Given the description of an element on the screen output the (x, y) to click on. 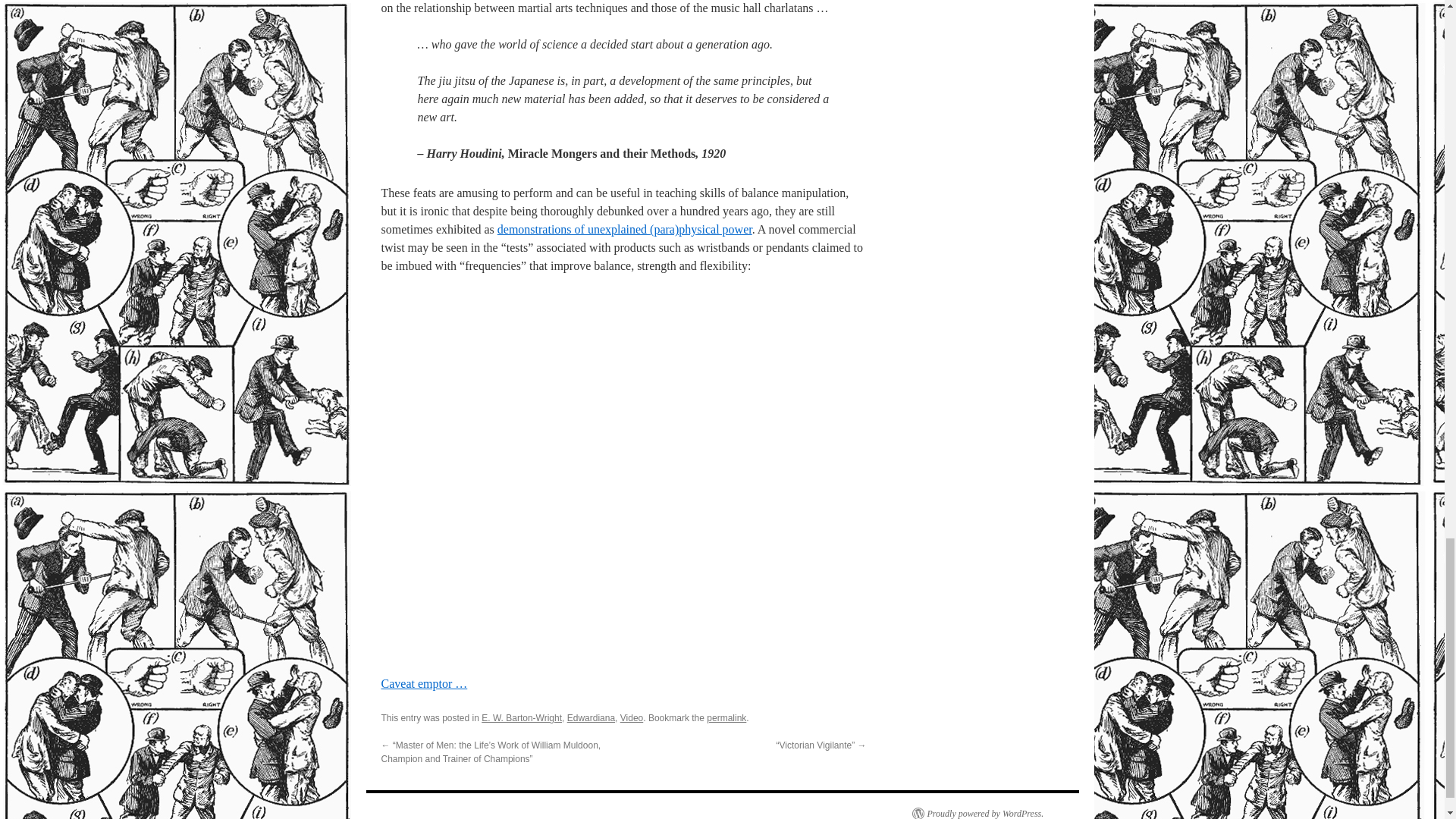
Video (631, 717)
permalink (725, 717)
E. W. Barton-Wright (521, 717)
Edwardiana (590, 717)
